Given the description of an element on the screen output the (x, y) to click on. 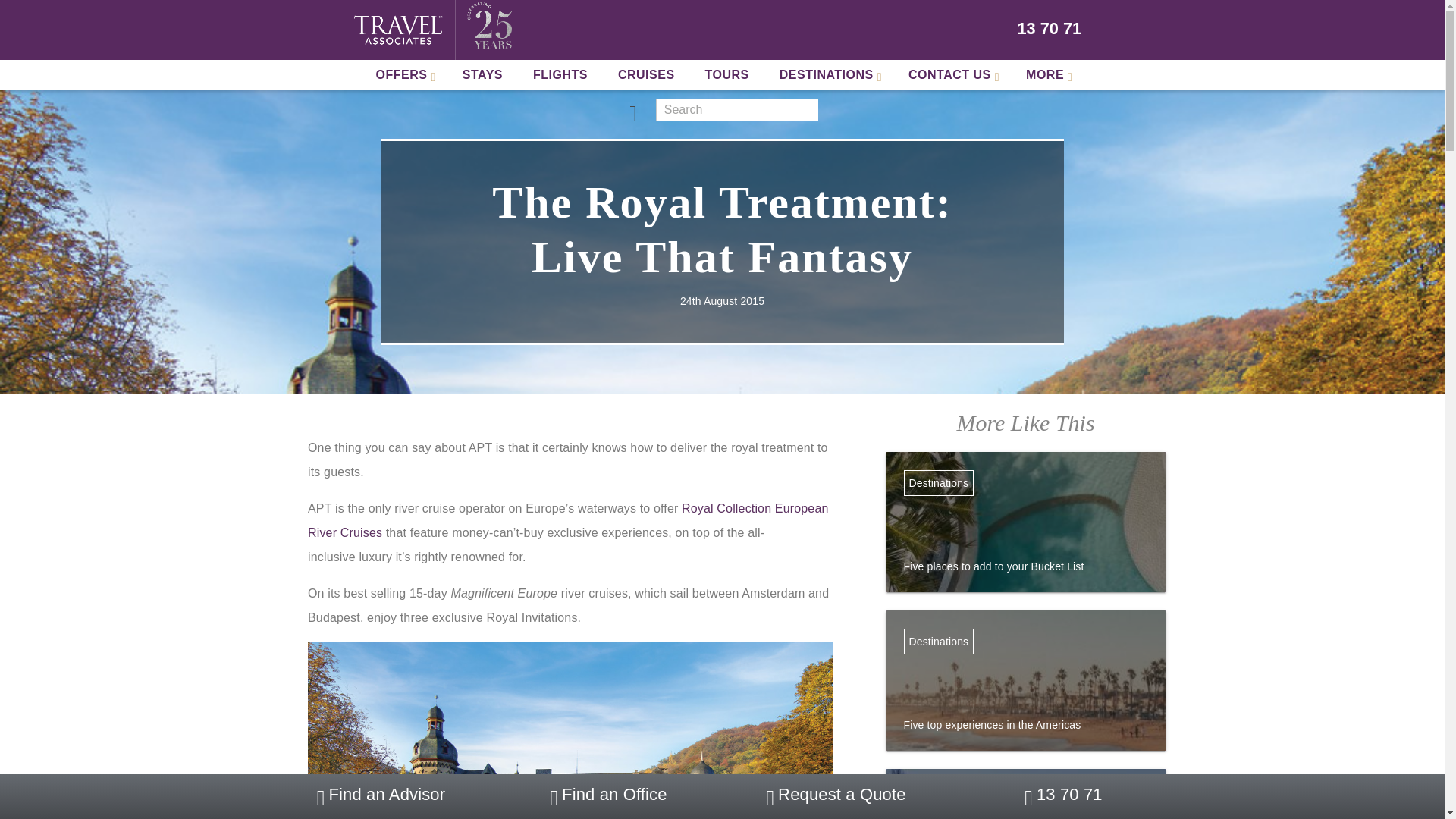
OFFERS (403, 74)
FLIGHTS (560, 74)
STAYS (482, 74)
CONTACT US (951, 74)
MORE (1046, 74)
DESTINATIONS (828, 74)
TOURS (727, 74)
CRUISES (646, 74)
13 70 71 (1050, 28)
